Given the description of an element on the screen output the (x, y) to click on. 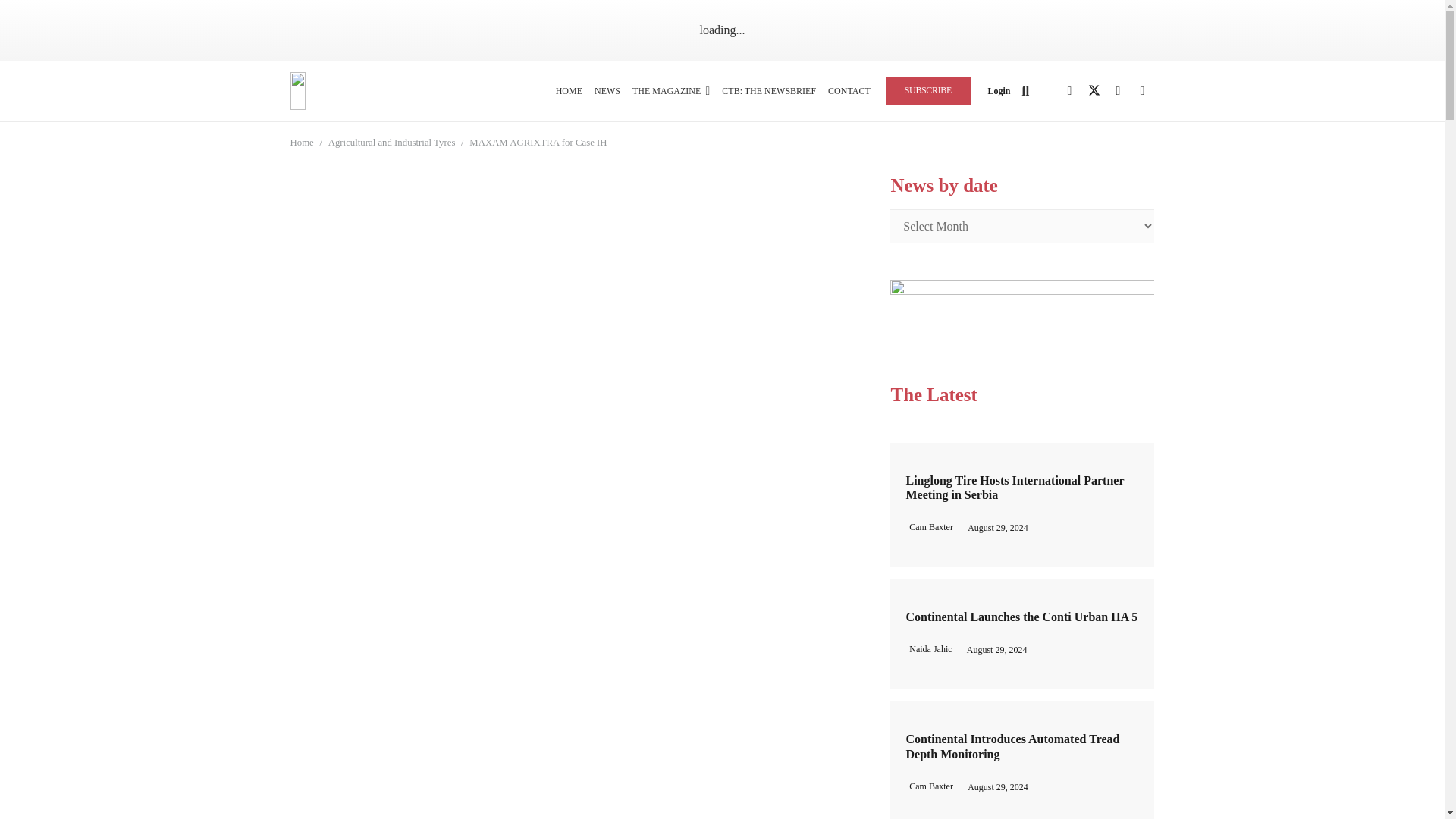
Facebook (1069, 90)
LinkedIn (1117, 90)
Login (998, 90)
CTB: THE NEWSBRIEF (769, 90)
WhatsApp (1141, 90)
Twitter (1093, 90)
CONTACT (849, 90)
SUBSCRIBE (928, 90)
Agricultural and Industrial Tyres (392, 142)
THE MAGAZINE (671, 90)
